Given the description of an element on the screen output the (x, y) to click on. 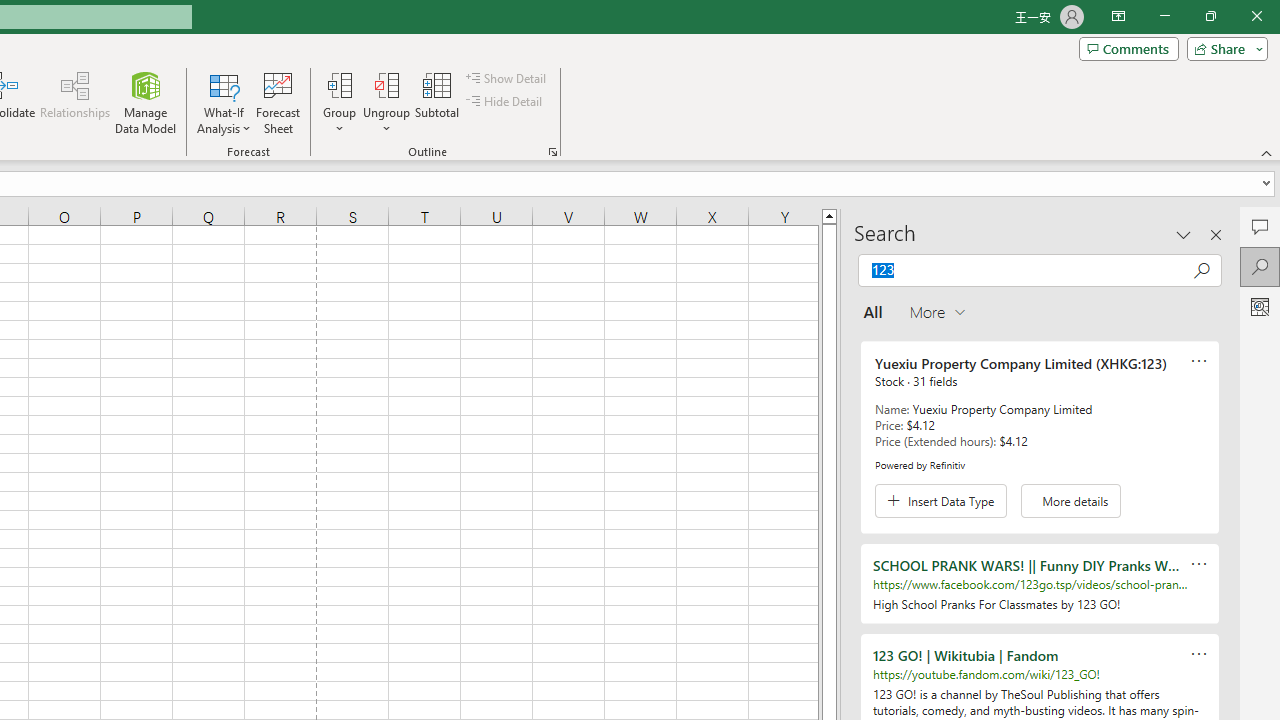
Relationships (75, 102)
